Given the description of an element on the screen output the (x, y) to click on. 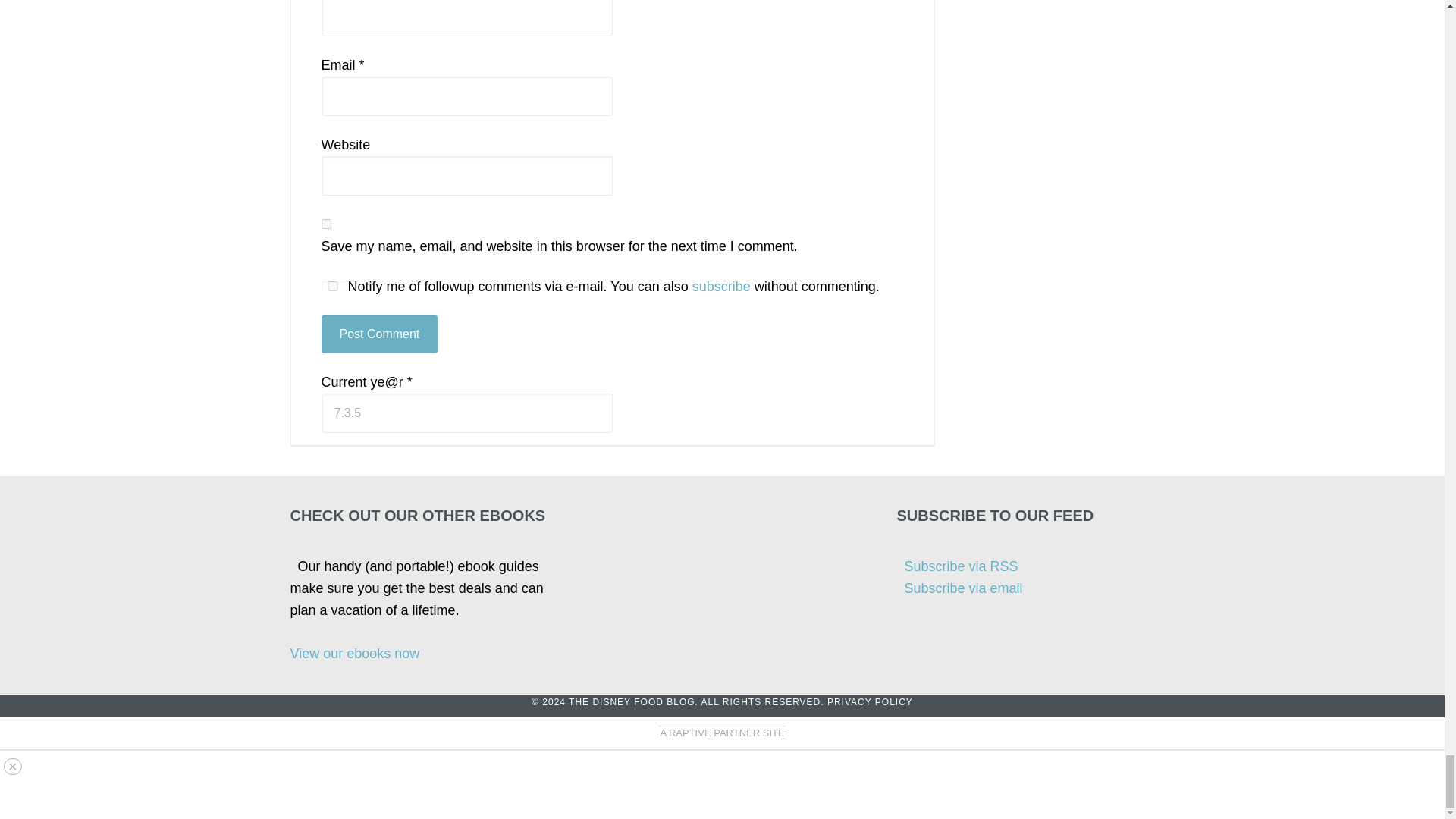
yes (332, 286)
Post Comment (379, 333)
yes (326, 224)
7.3.5 (466, 413)
